Given the description of an element on the screen output the (x, y) to click on. 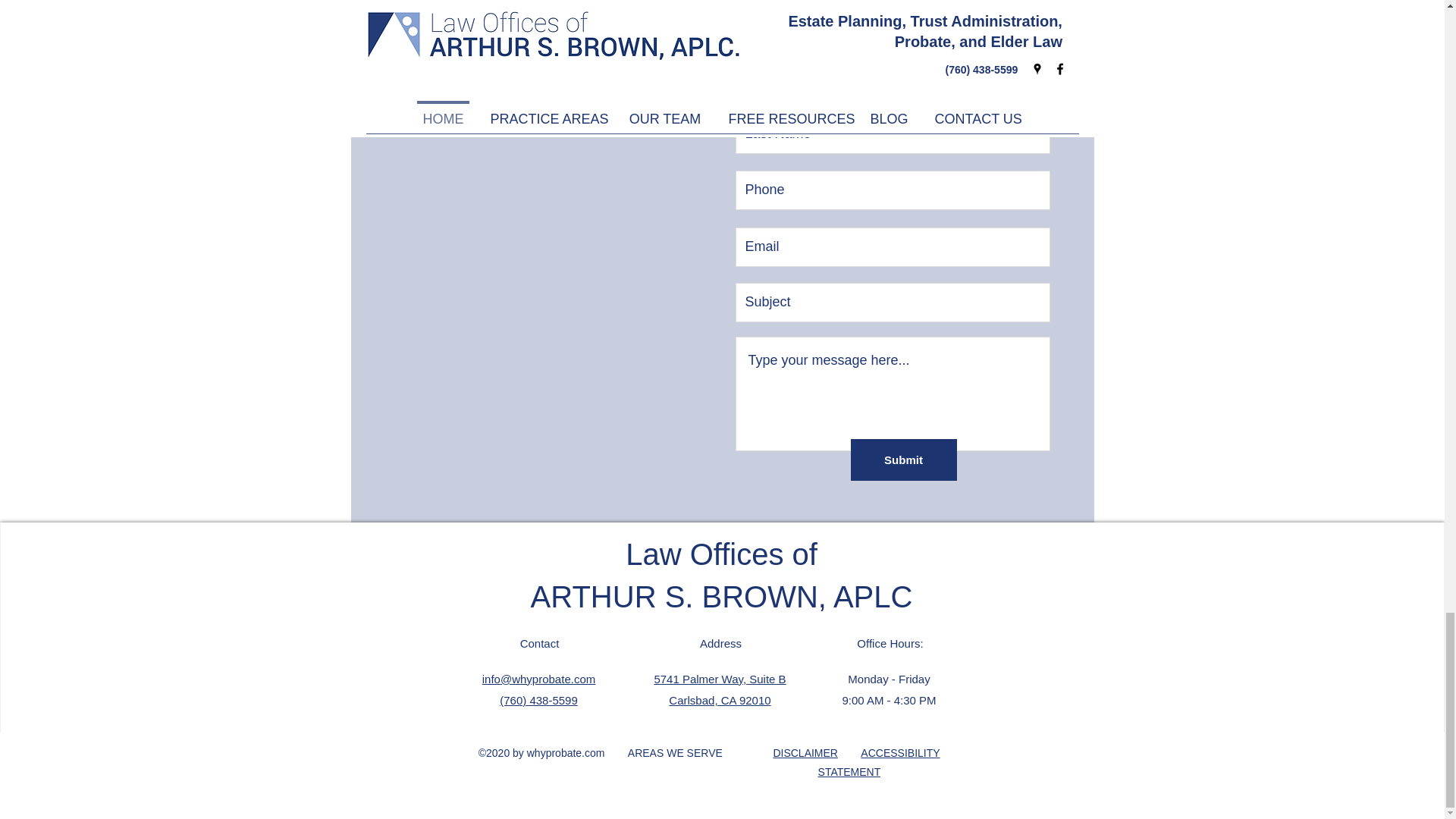
ACCESSIBILITY STATEMENT (879, 762)
Submit (903, 459)
DISCLAIMER (719, 689)
Contact (805, 752)
AREAS WE SERVE     (539, 643)
